Given the description of an element on the screen output the (x, y) to click on. 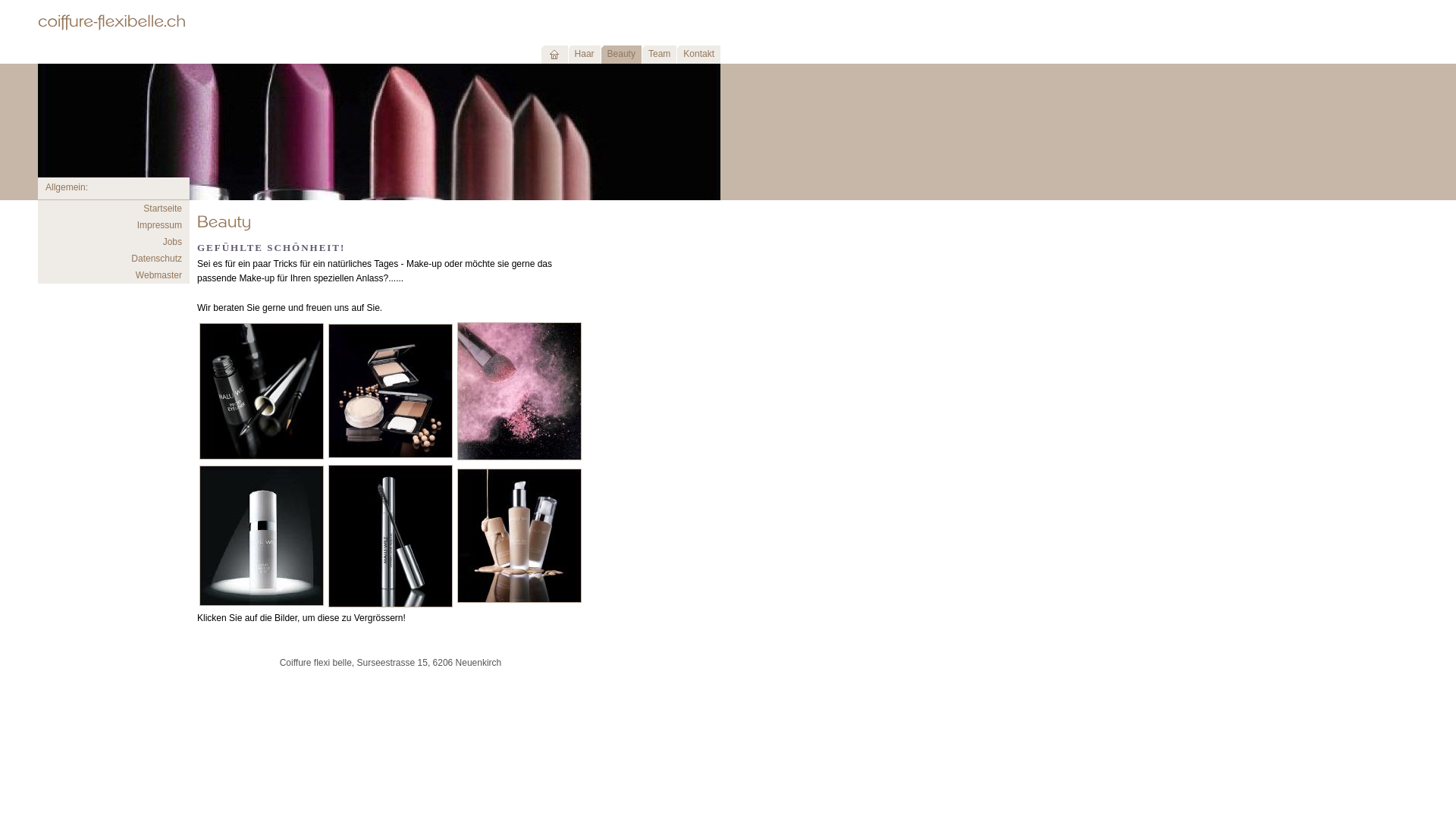
Beauty Element type: text (620, 55)
Datenschutz Element type: text (156, 258)
Team Element type: text (658, 55)
Startseite Element type: text (162, 208)
Haar Element type: text (583, 55)
Impressum Element type: text (159, 224)
Webmaster Element type: text (158, 274)
Kontakt Element type: text (698, 55)
Jobs Element type: text (172, 241)
   Element type: text (553, 55)
